Given the description of an element on the screen output the (x, y) to click on. 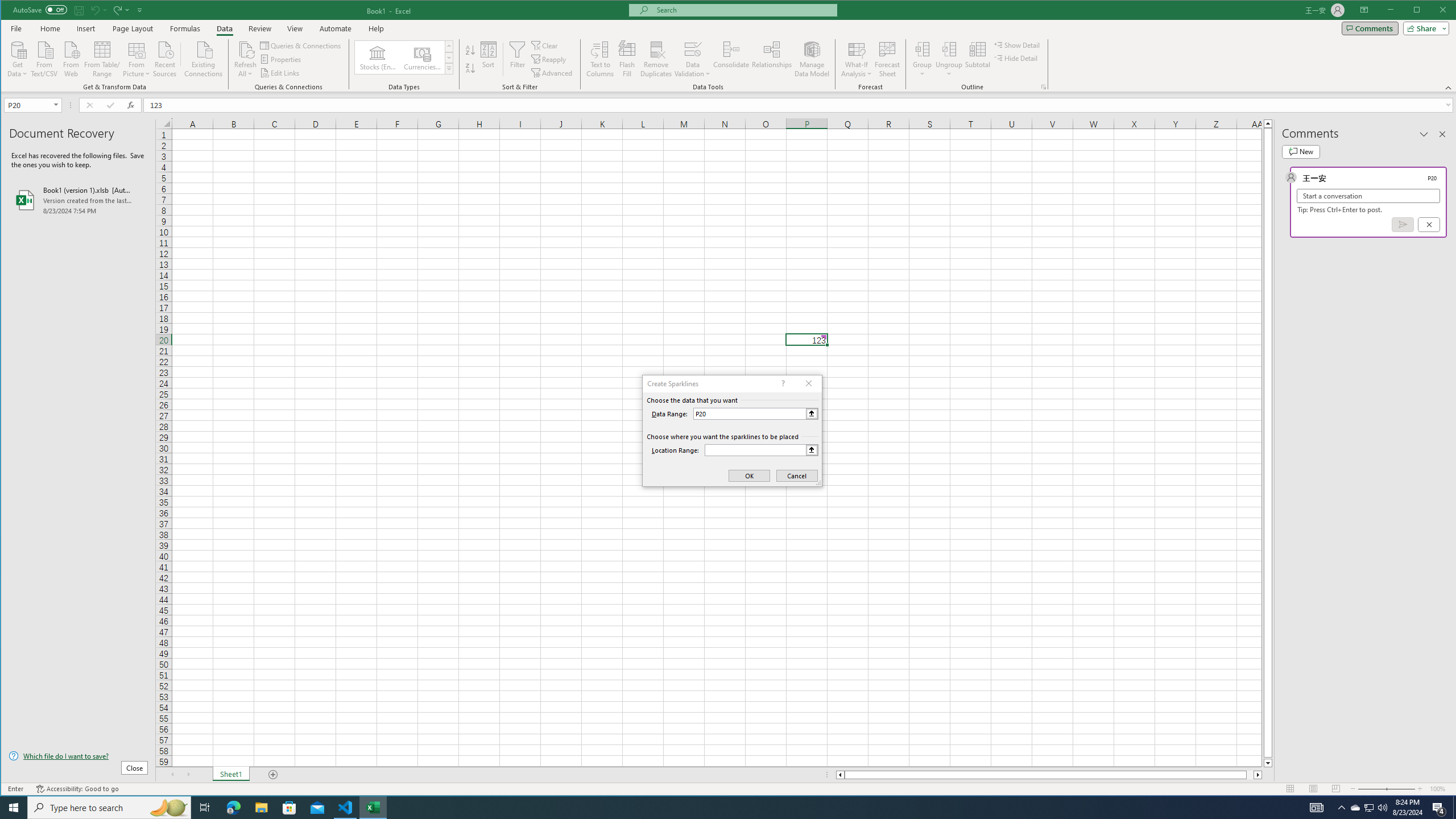
Maximize (1432, 11)
Start a conversation (1368, 195)
AutomationID: ConvertToLinkedEntity (403, 57)
Properties (280, 59)
Manage Data Model (812, 59)
Data Types (448, 68)
Stocks (English) (377, 57)
